Given the description of an element on the screen output the (x, y) to click on. 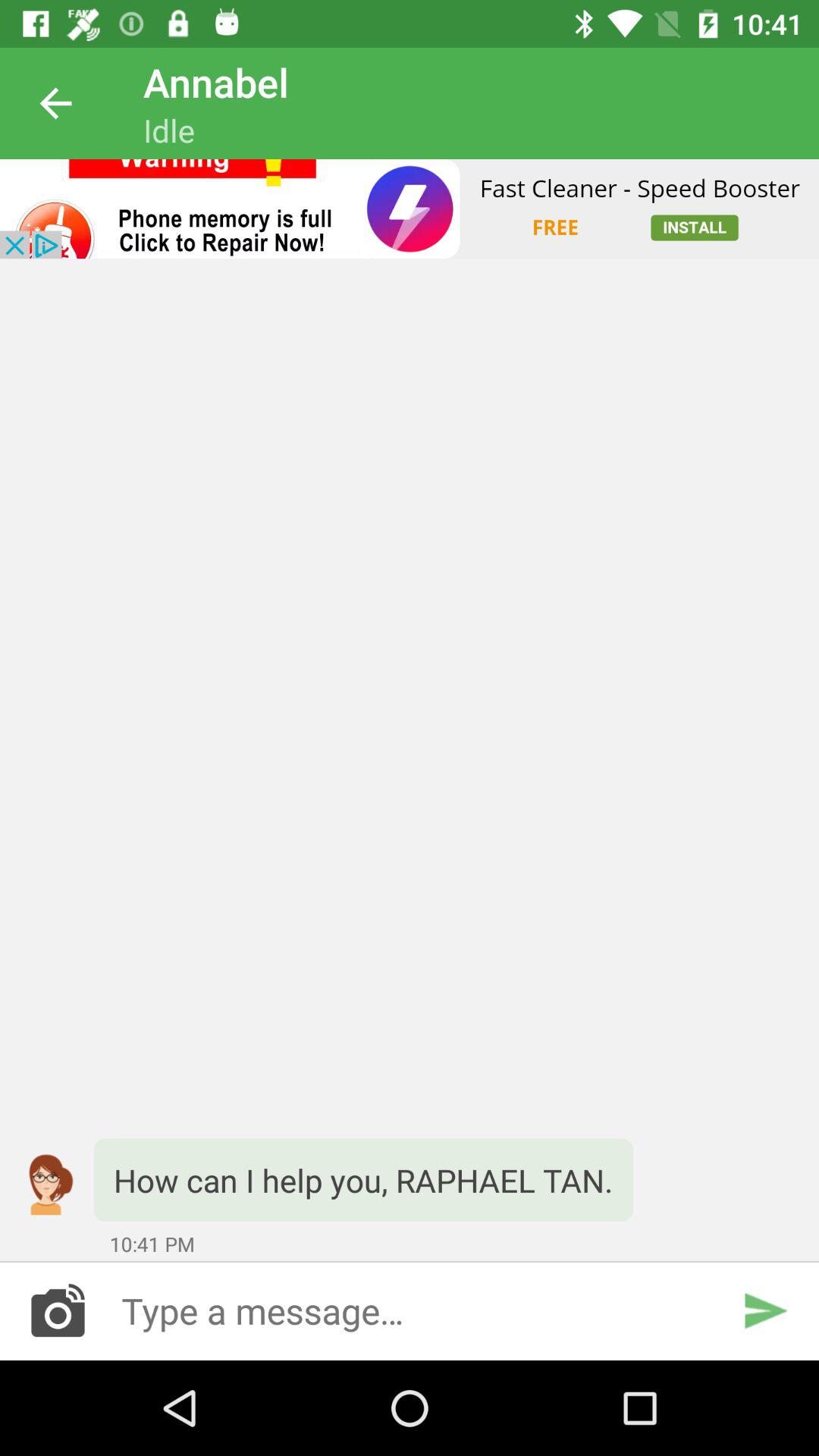
send message (764, 1310)
